Given the description of an element on the screen output the (x, y) to click on. 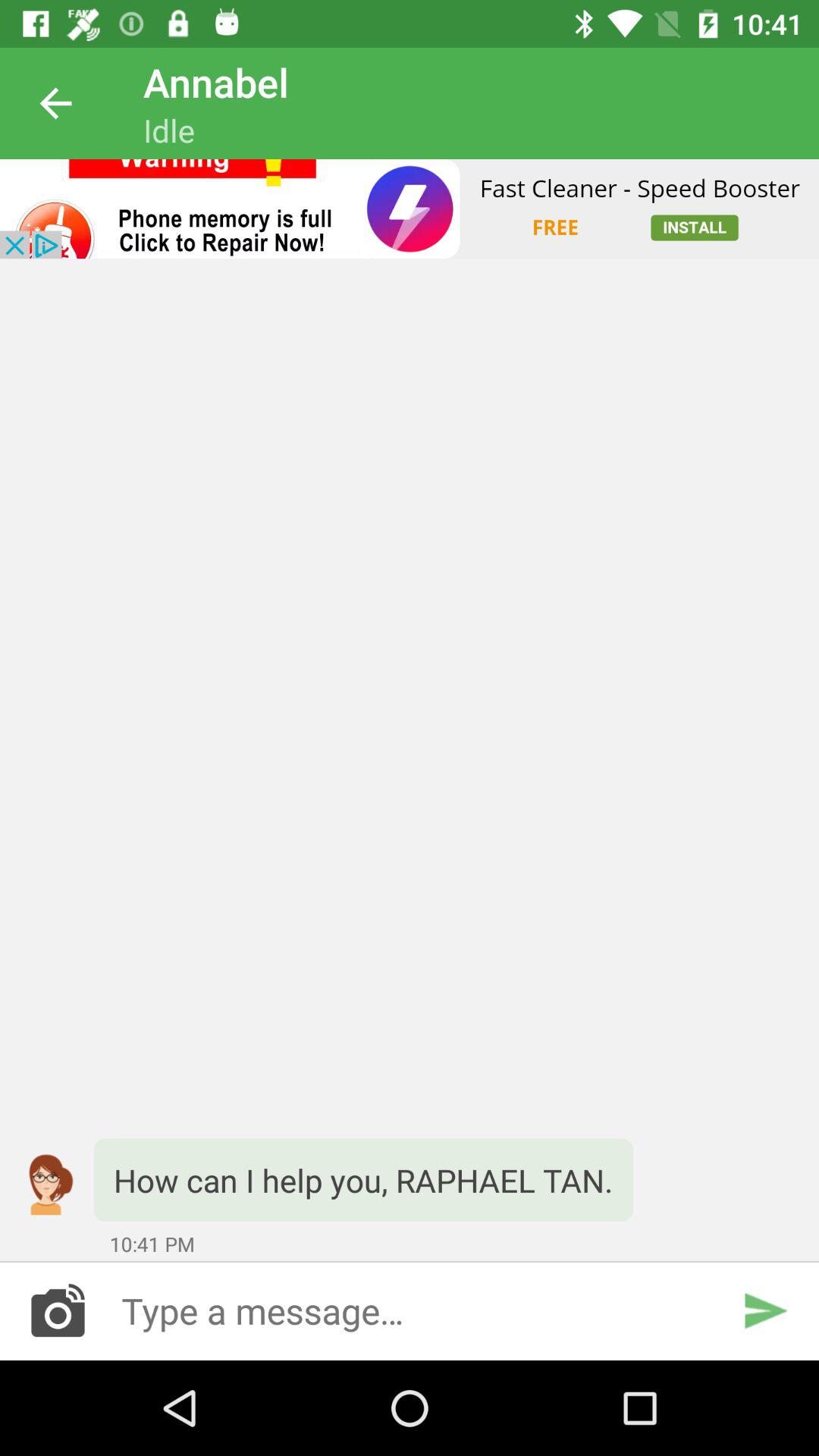
send message (764, 1310)
